Given the description of an element on the screen output the (x, y) to click on. 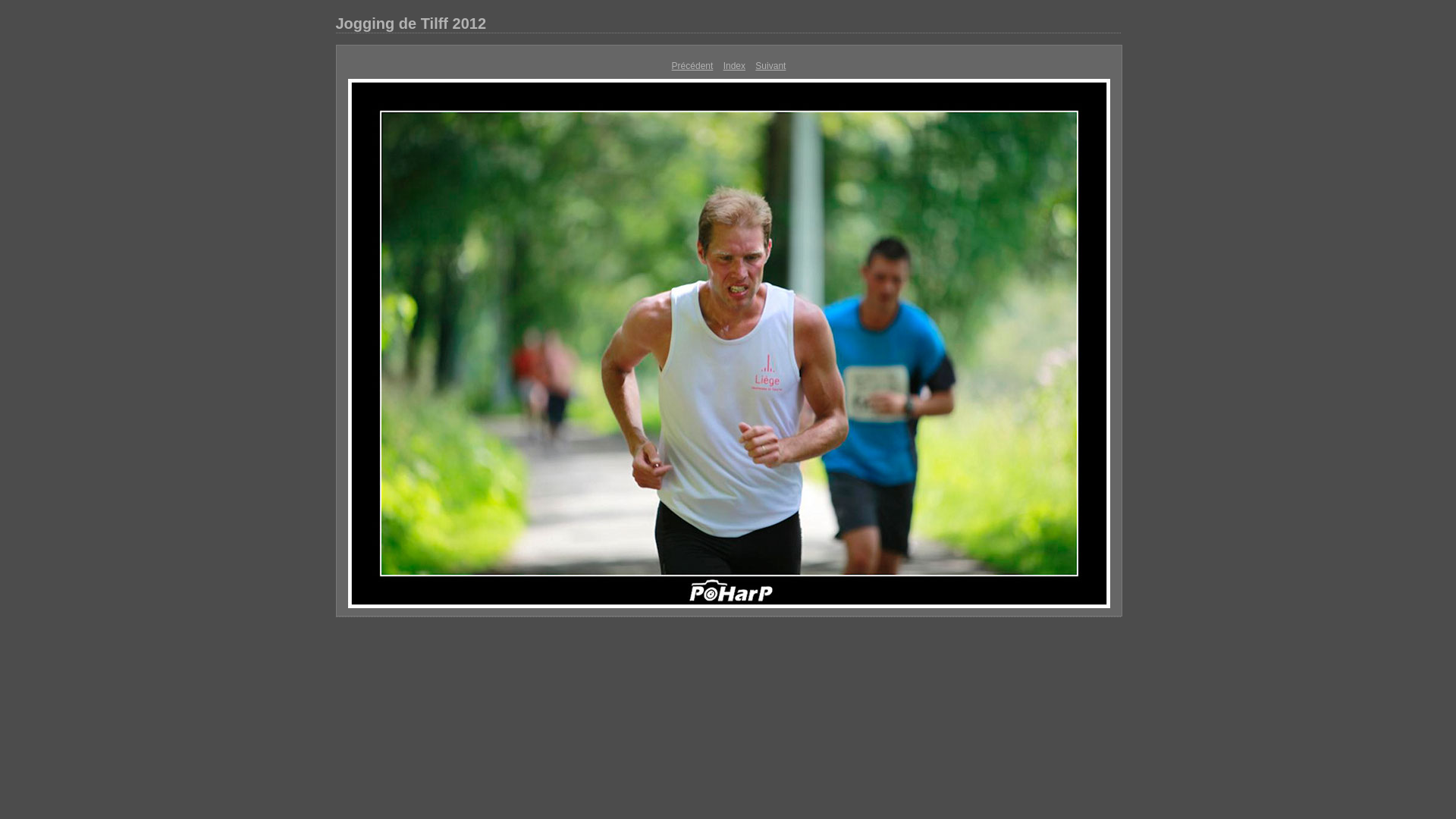
Suivant Element type: text (770, 65)
Index Element type: text (734, 65)
Jogging de Tilff 2012 Element type: text (727, 23)
